Given the description of an element on the screen output the (x, y) to click on. 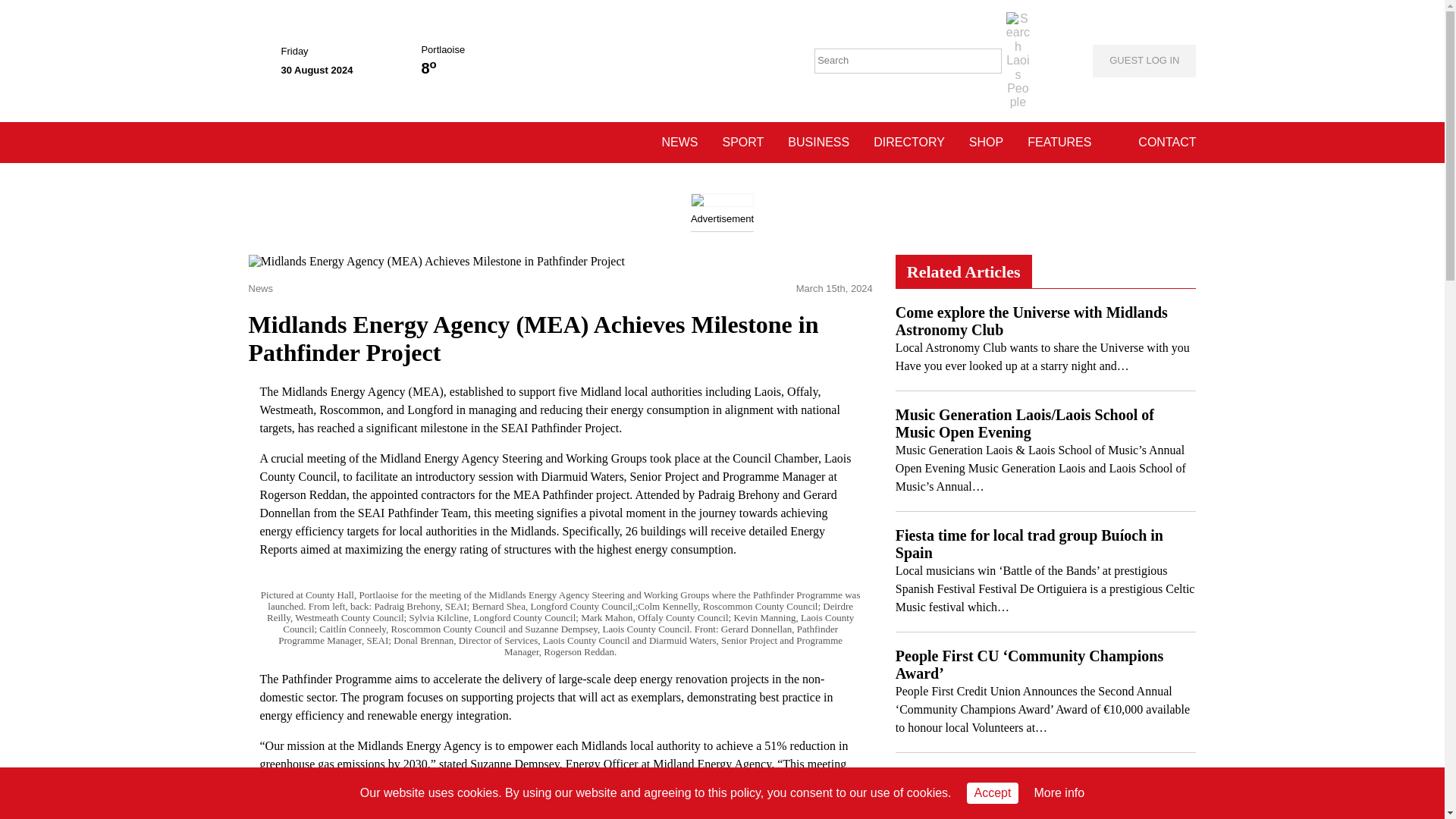
CONTACT (1166, 141)
Come explore the Universe with Midlands Astronomy Club (1042, 356)
NEWS (679, 141)
Come explore the Universe with Midlands Astronomy Club (1031, 320)
DIRECTORY (908, 141)
Come explore the Universe with Midlands Astronomy Club (1031, 320)
News (263, 288)
SPORT (742, 141)
SHOP (986, 141)
FEATURES (1058, 141)
